Given the description of an element on the screen output the (x, y) to click on. 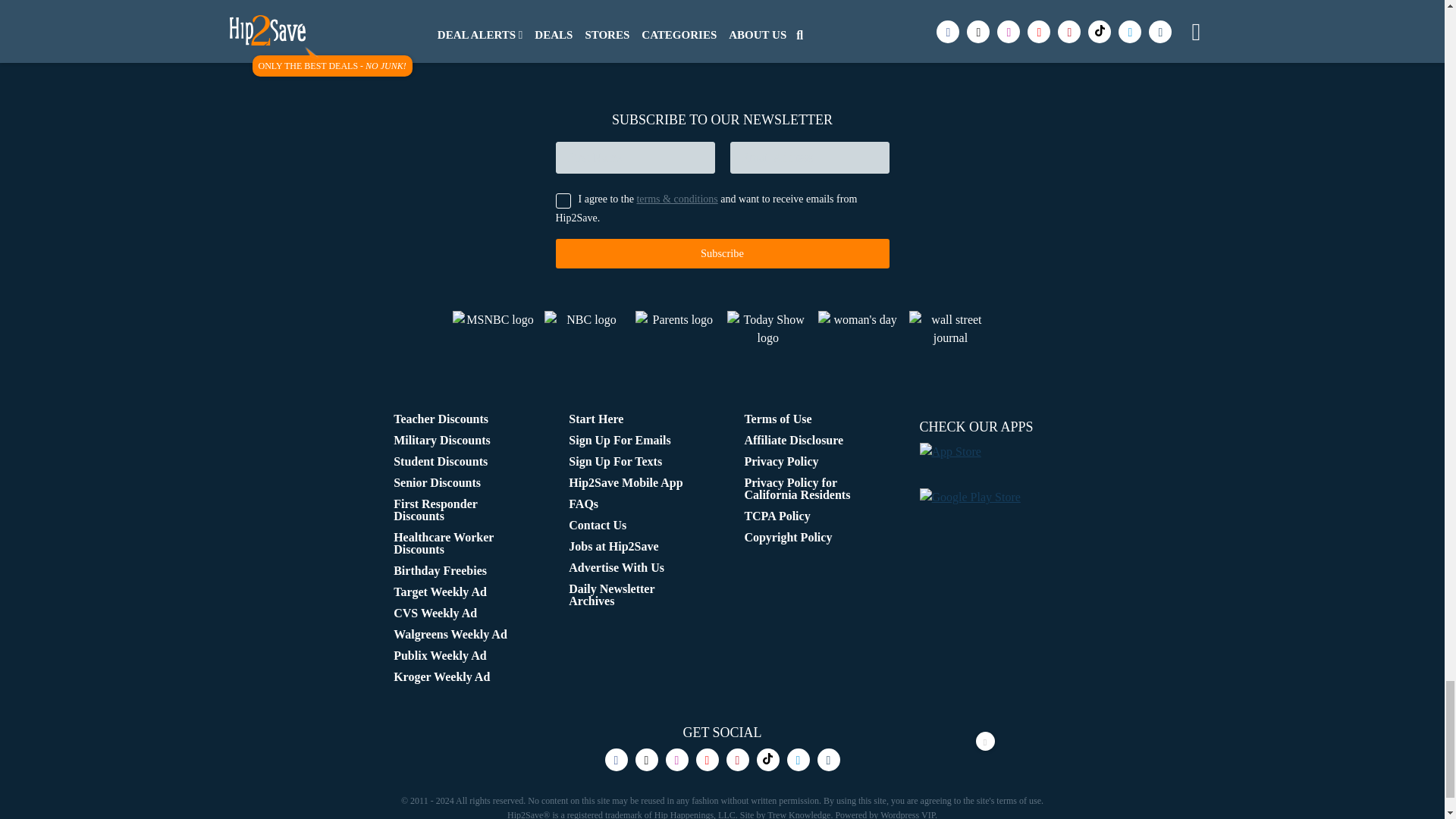
Subscribe (721, 253)
